Given the description of an element on the screen output the (x, y) to click on. 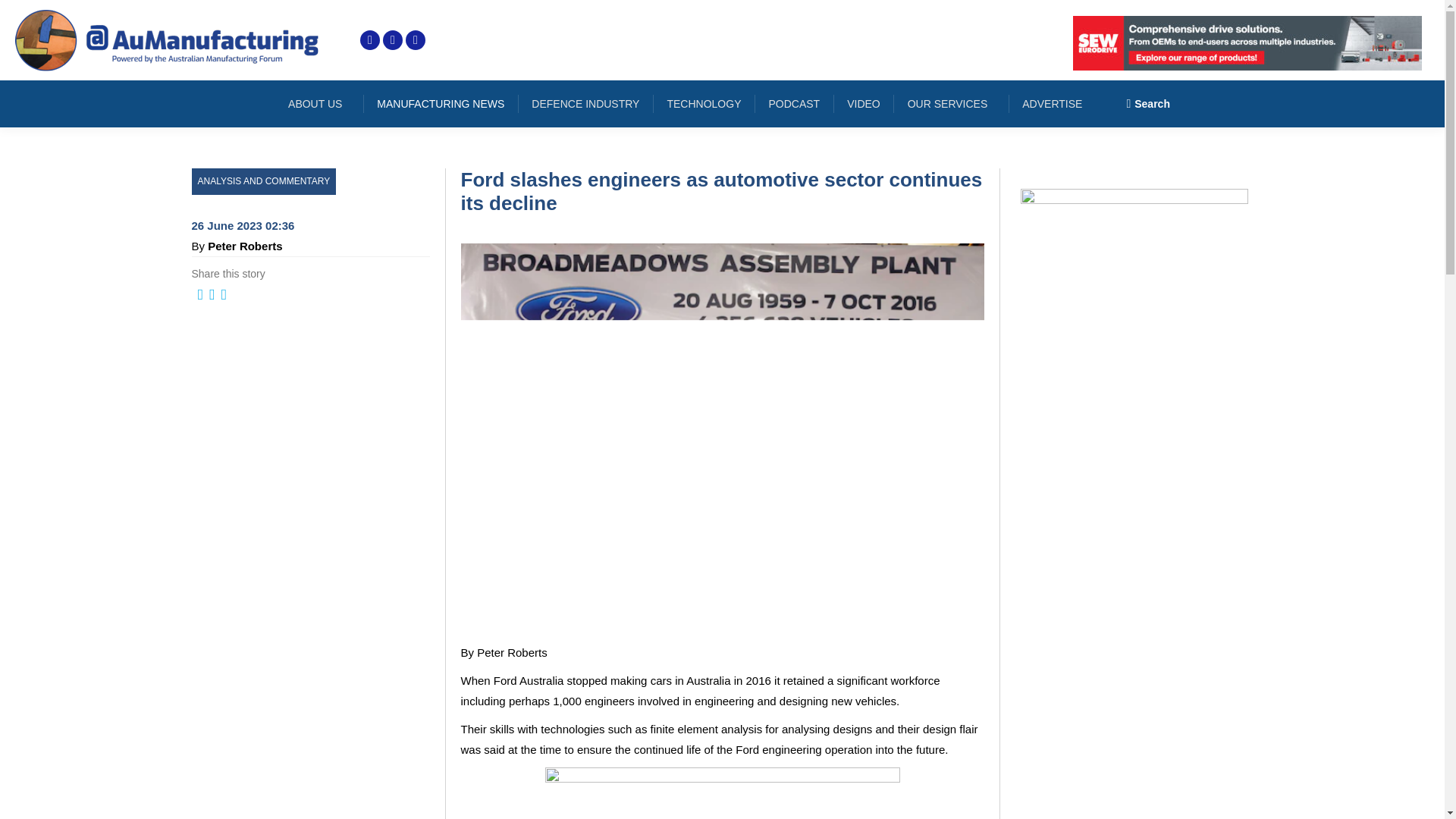
Go! (24, 16)
X page opens in new window (369, 39)
YouTube page opens in new window (415, 39)
Search (1147, 103)
ABOUT US (318, 103)
ADVERTISE (1051, 103)
MANUFACTURING NEWS (440, 103)
DEFENCE INDUSTRY (585, 103)
Linkedin page opens in new window (392, 39)
VIDEO (863, 103)
